Given the description of an element on the screen output the (x, y) to click on. 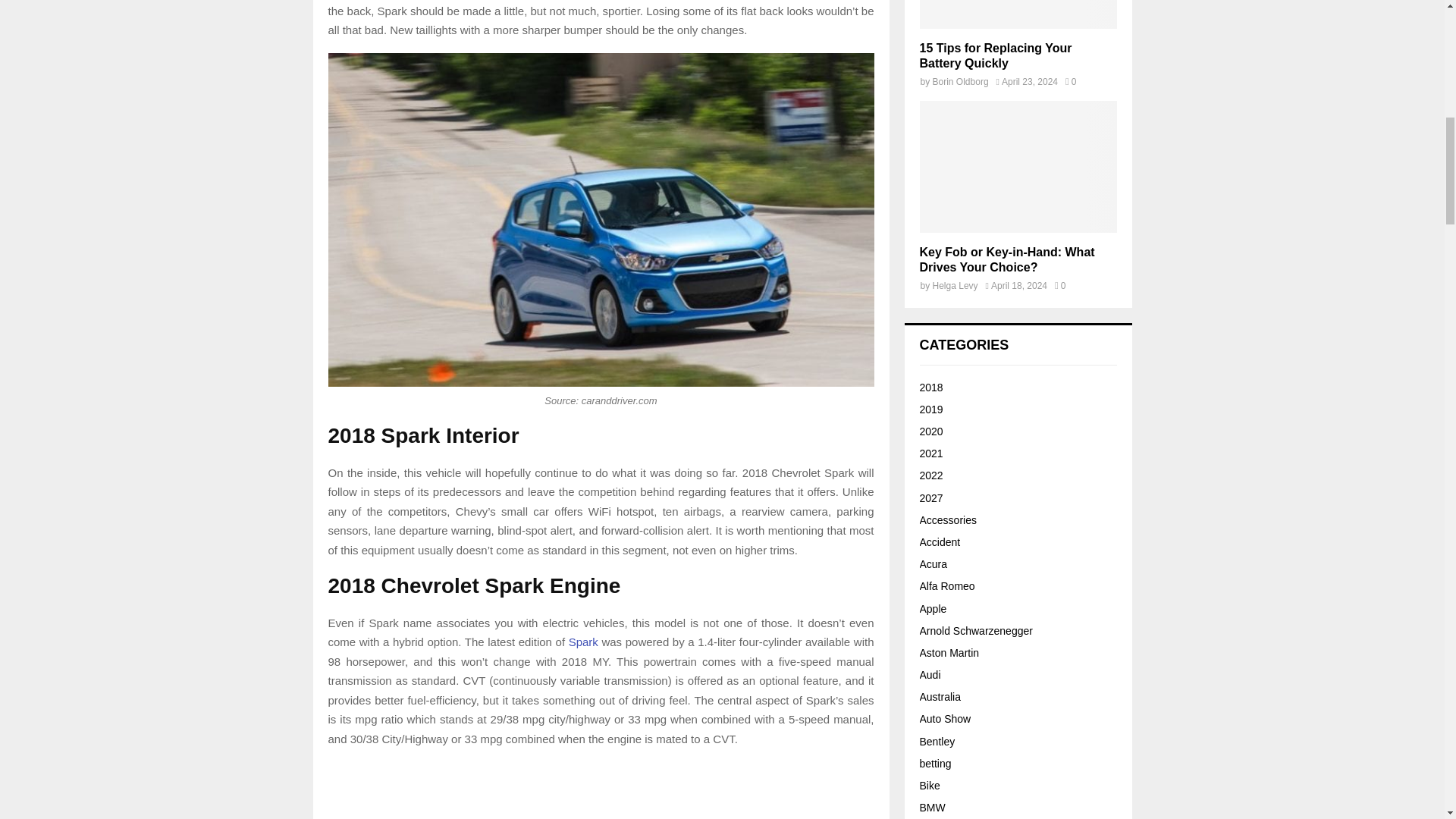
Key Fob or Key-in-Hand: What Drives Your Choice? (1017, 165)
 15 Tips for Replacing Your Battery Quickly  (994, 55)
15 Tips for Replacing Your Battery Quickly (1017, 14)
Spark (583, 641)
 Key Fob or Key-in-Hand: What Drives Your Choice?  (1006, 259)
